Given the description of an element on the screen output the (x, y) to click on. 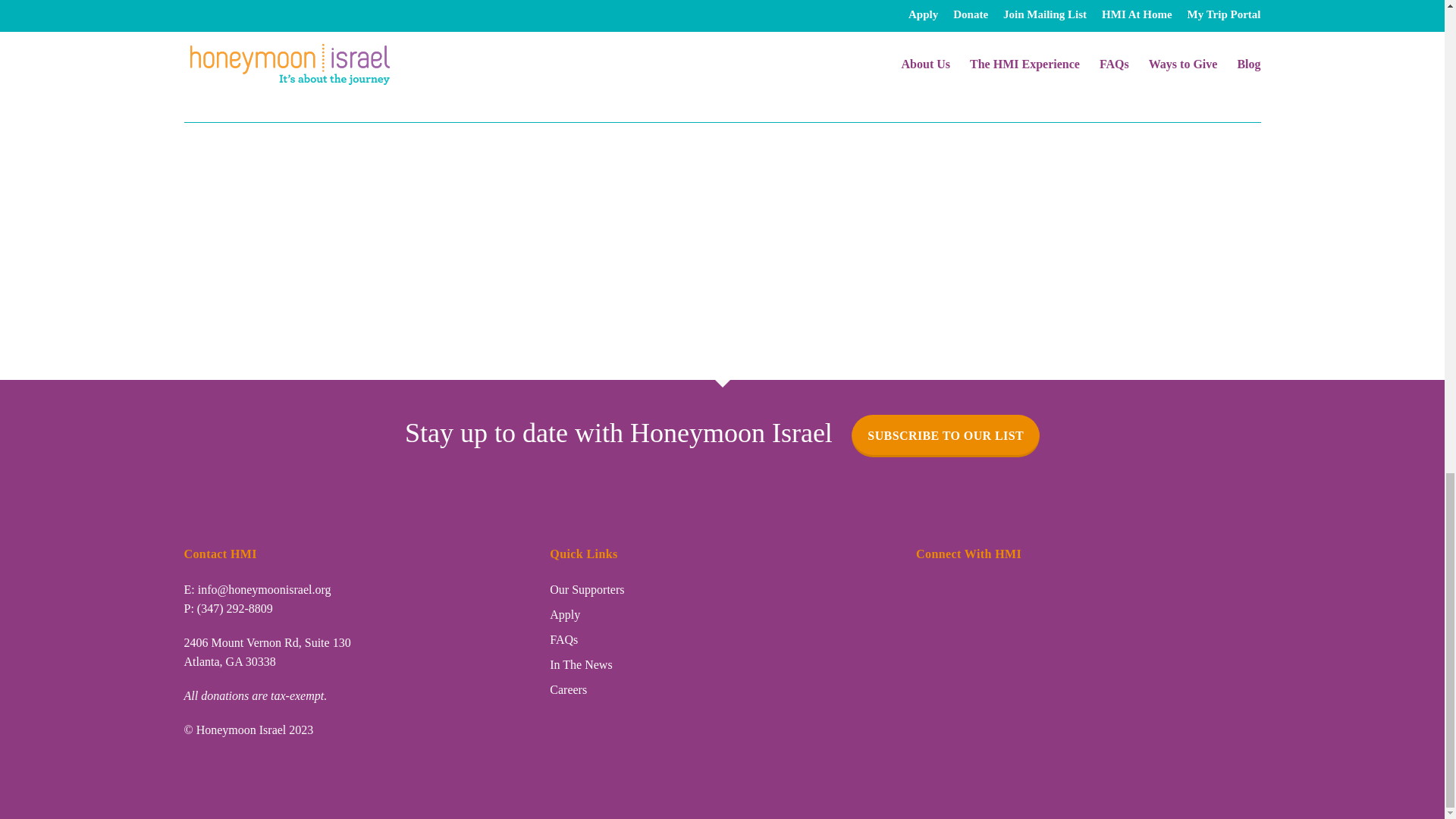
In The News (580, 664)
Submit (226, 67)
FAQs (564, 639)
SUBSCRIBE TO OUR LIST (945, 435)
Our Supporters (587, 589)
Apply (564, 614)
Careers (568, 689)
